Given the description of an element on the screen output the (x, y) to click on. 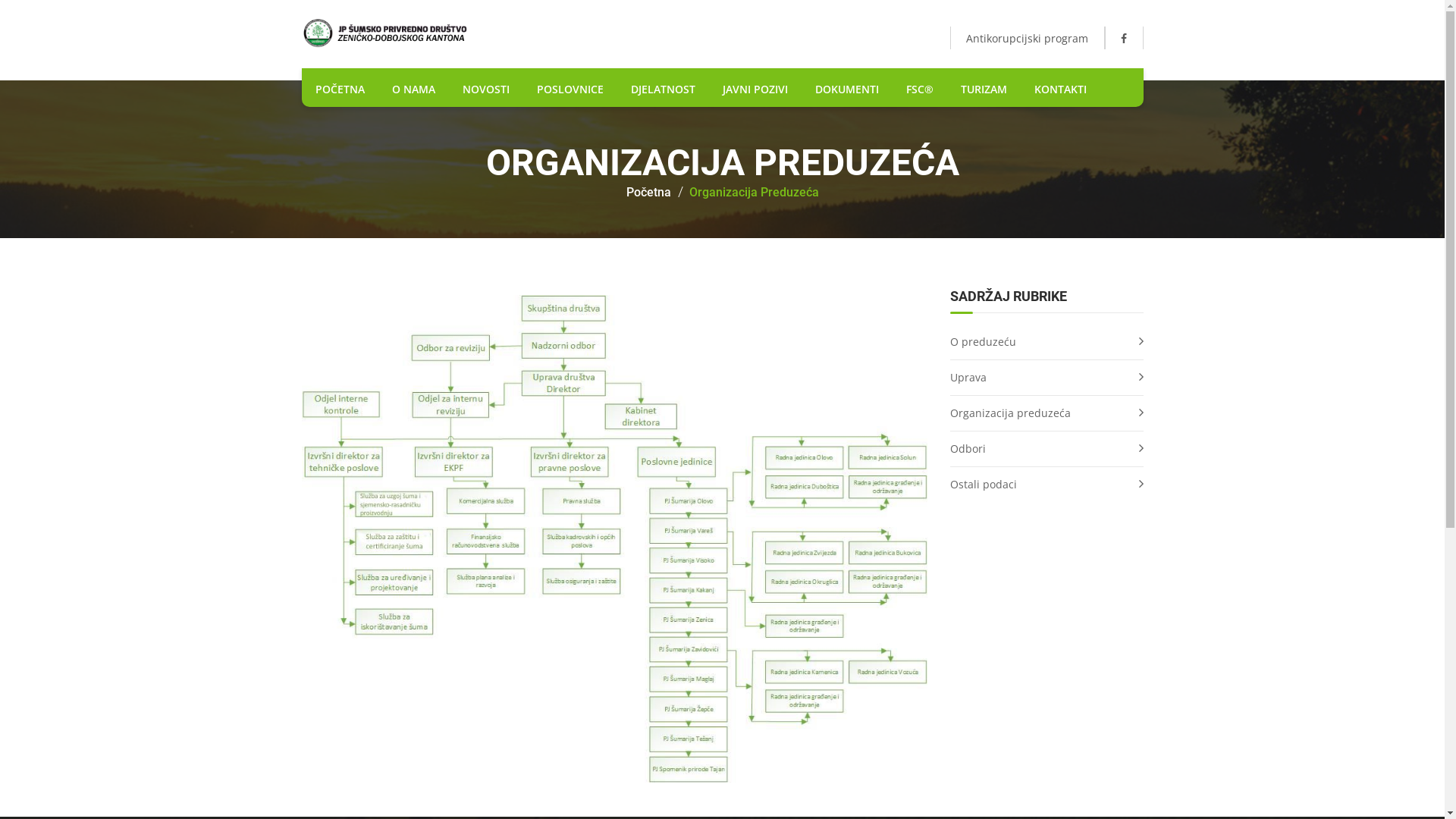
POSLOVNICE Element type: text (570, 89)
KONTAKTI Element type: text (1060, 89)
O NAMA Element type: text (412, 89)
NOVOSTI Element type: text (485, 89)
Ostali podaci Element type: text (1045, 484)
Uprava Element type: text (1045, 377)
DJELATNOST Element type: text (663, 89)
JAVNI POZIVI Element type: text (754, 89)
Odbori Element type: text (1045, 448)
TURIZAM Element type: text (982, 89)
Antikorupcijski program Element type: text (1026, 38)
DOKUMENTI Element type: text (845, 89)
